Given the description of an element on the screen output the (x, y) to click on. 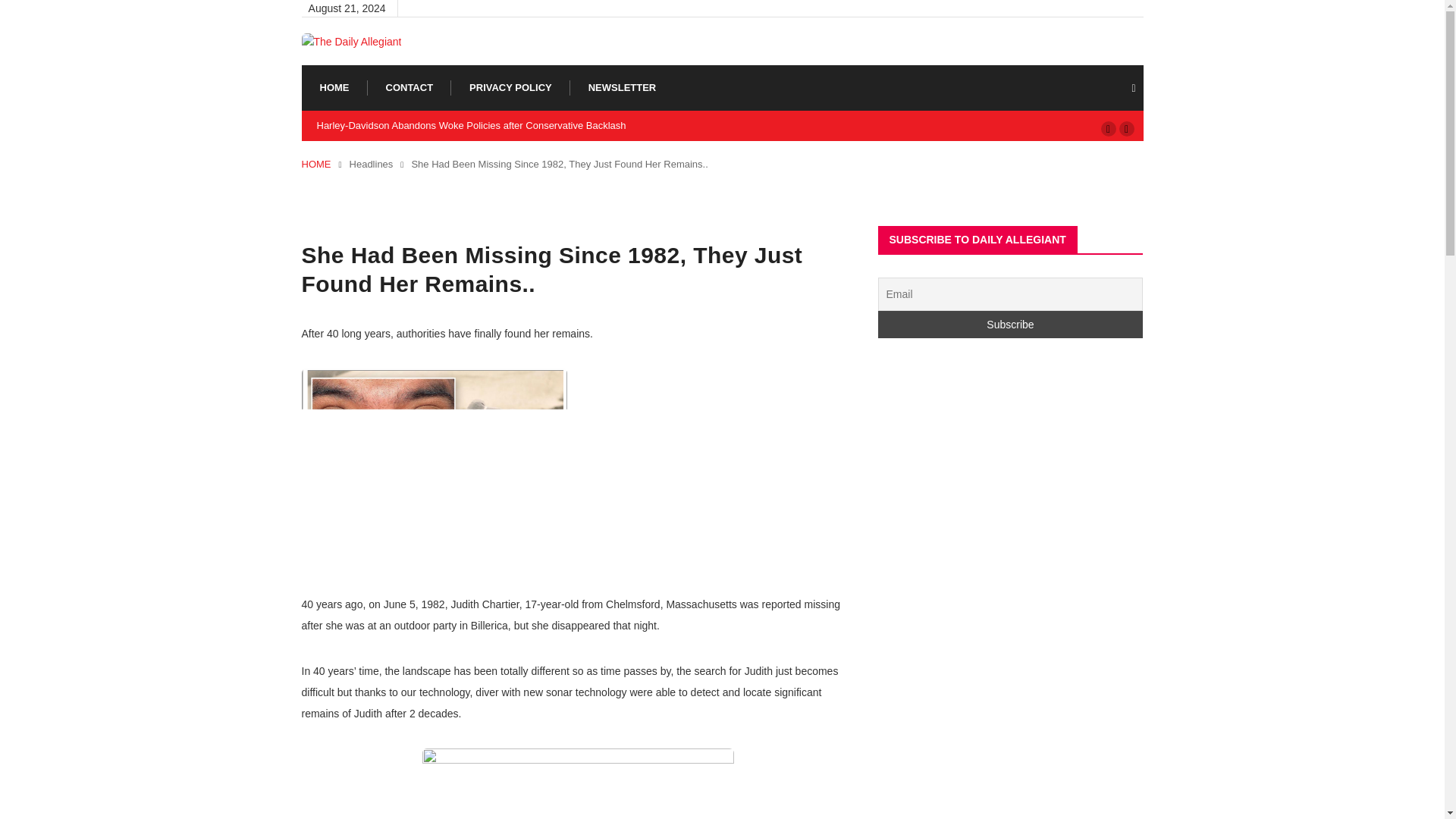
PRIVACY POLICY (509, 87)
Subscribe (1009, 324)
HOME (316, 163)
CONTACT (408, 87)
Subscribe (1009, 324)
NEWSLETTER (622, 87)
